Given the description of an element on the screen output the (x, y) to click on. 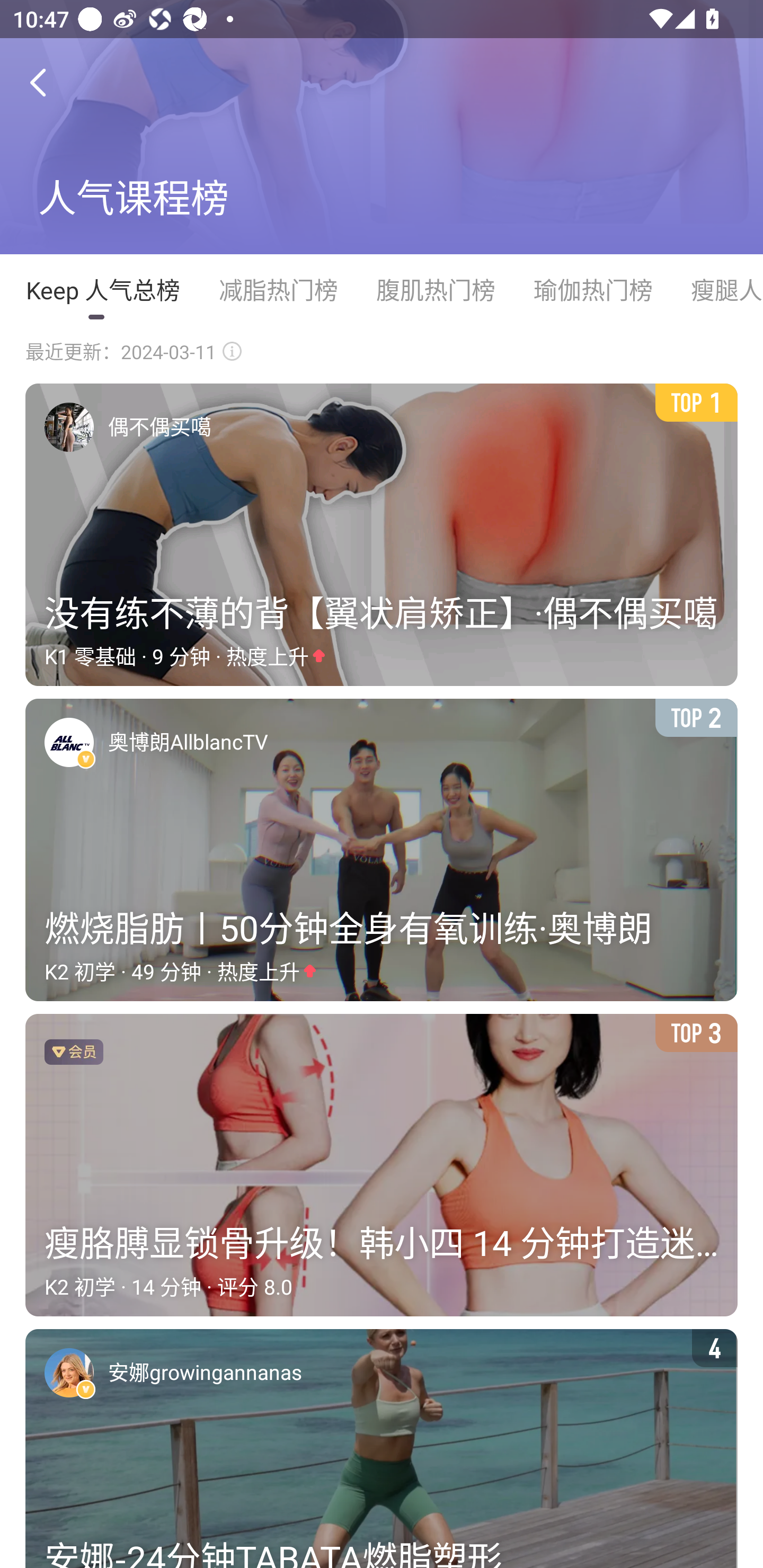
Left Button In Title Bar (50, 82)
Keep 人气总榜 (102, 290)
减脂热门榜 (277, 290)
腹肌热门榜 (435, 290)
瑜伽热门榜 (592, 290)
瘦腿人气榜 (717, 290)
最近更新：2024-03-11 (133, 351)
偶不偶买噶 没有练不薄的背【翼状肩矫正】·偶不偶买噶 K1 零基础 · 9 分钟 · 热度上升 (381, 535)
瘦胳膊显锁骨升级！韩小四 14 分钟打造迷人肩臂 K2 初学 · 14 分钟 · 评分 8.0 (381, 1165)
安娜growingannanas 安娜-24分钟TABATA燃脂塑形 (381, 1448)
